Given the description of an element on the screen output the (x, y) to click on. 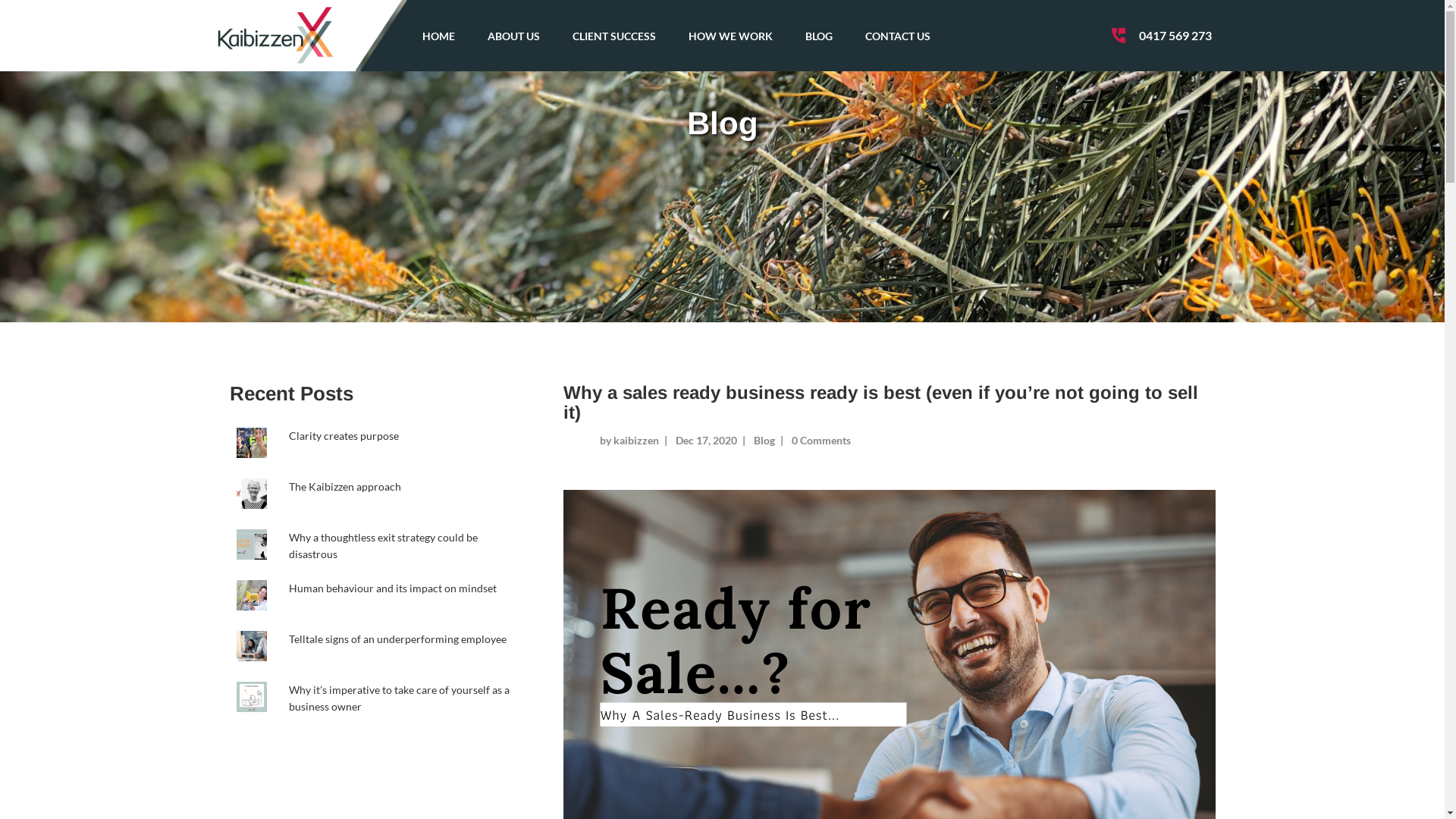
0417 569 273 Element type: text (1175, 35)
BLOG Element type: text (818, 35)
HOW WE WORK Element type: text (730, 35)
Telltale signs of an underperforming employee Element type: text (397, 638)
Blog Element type: text (764, 439)
The Kaibizzen approach Element type: text (344, 486)
Clarity creates purpose Element type: text (343, 435)
CLIENT SUCCESS Element type: text (614, 35)
ABOUT US Element type: text (513, 35)
CONTACT US Element type: text (897, 35)
Human behaviour and its impact on mindset Element type: text (392, 587)
Why a thoughtless exit strategy could be disastrous Element type: text (382, 545)
HOME Element type: text (438, 35)
